Given the description of an element on the screen output the (x, y) to click on. 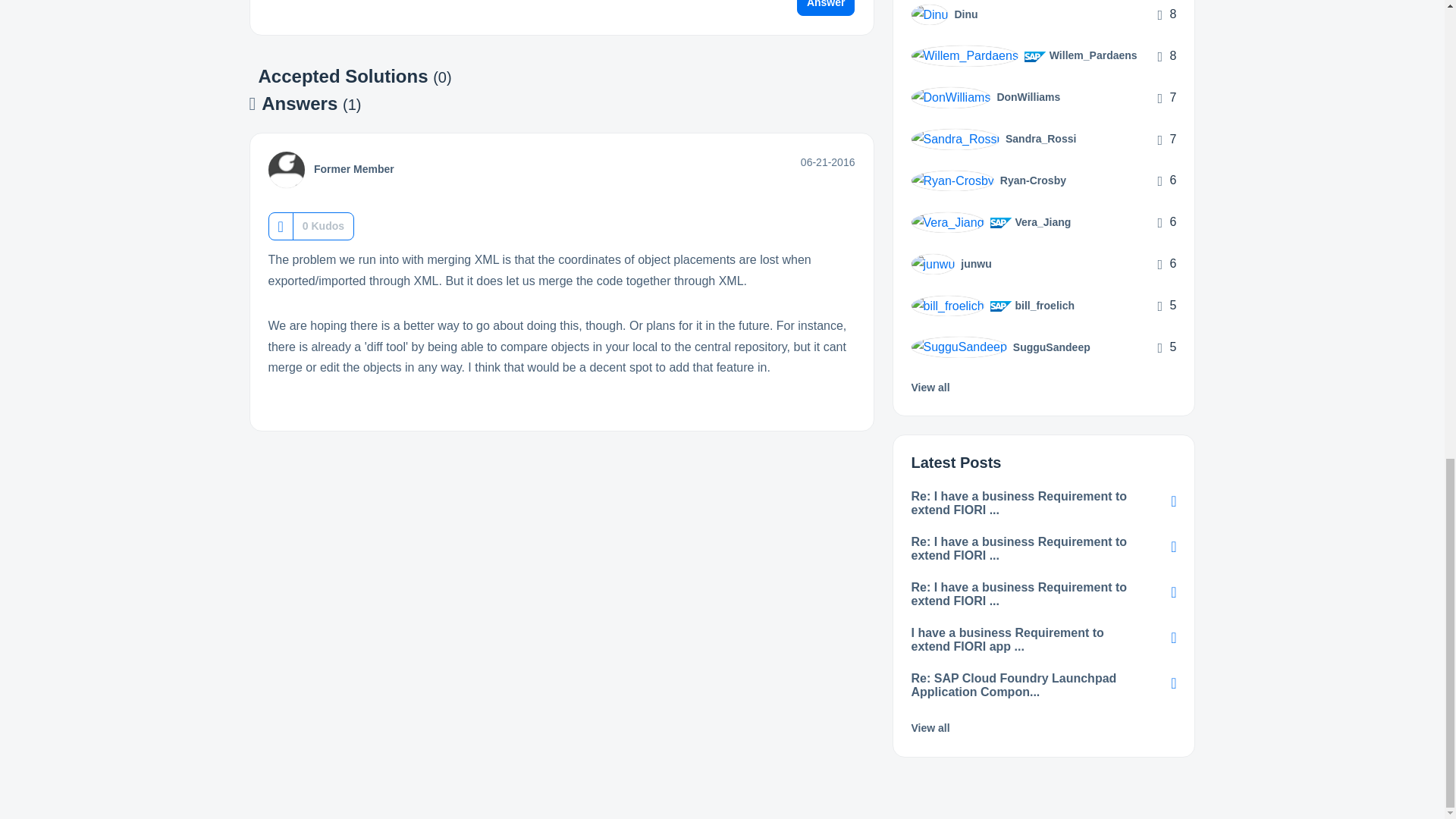
Posted on (828, 162)
Answer (826, 7)
The total number of kudos this post has received. (323, 225)
